Given the description of an element on the screen output the (x, y) to click on. 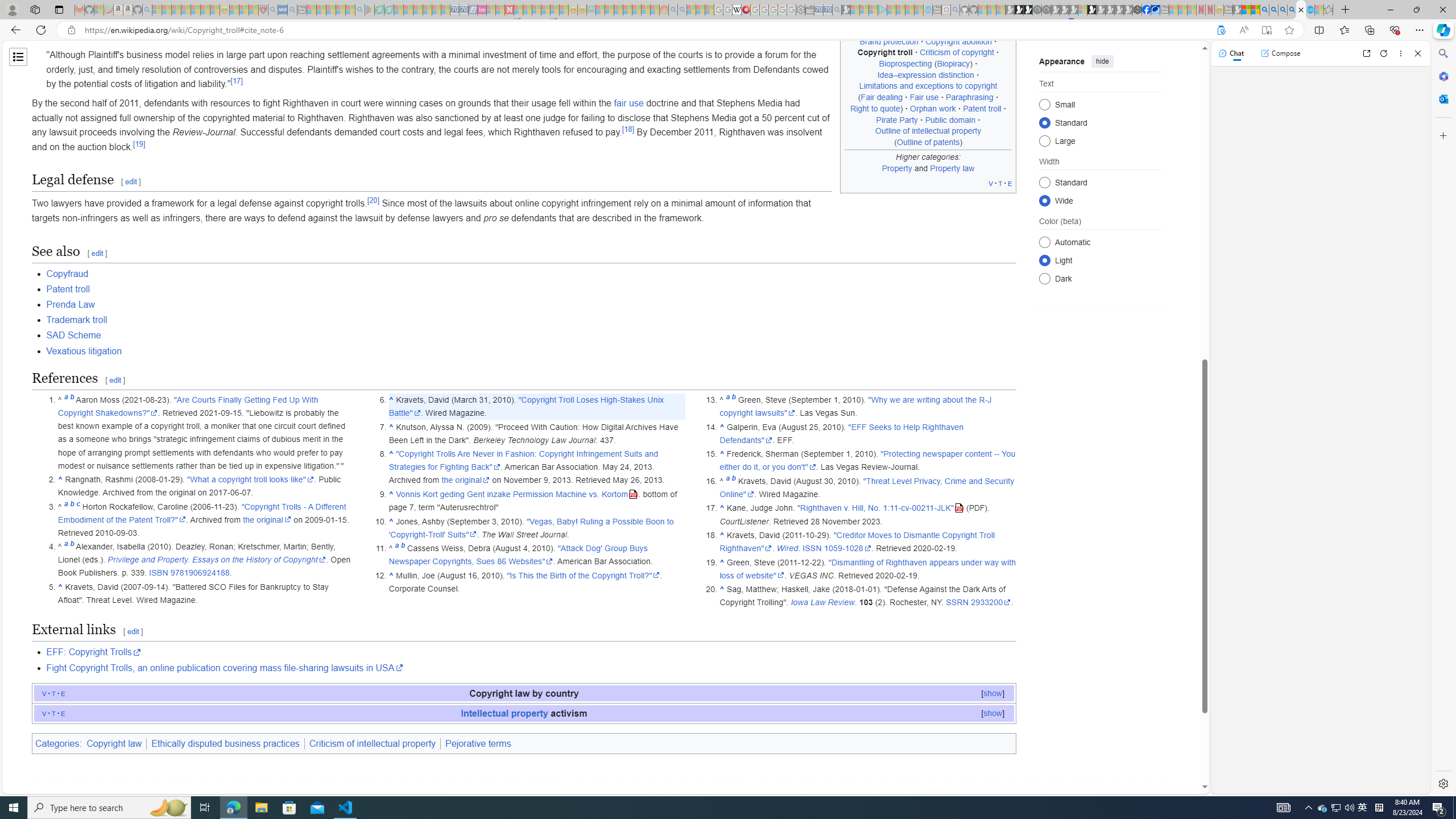
google - Search - Sleeping (359, 9)
Property (896, 167)
Pejorative terms (477, 743)
New tab - Sleeping (1227, 9)
Large (1044, 140)
The Weather Channel - MSN - Sleeping (175, 9)
New Tab (1346, 9)
Add this page to favorites (Ctrl+D) (1289, 29)
